Given the description of an element on the screen output the (x, y) to click on. 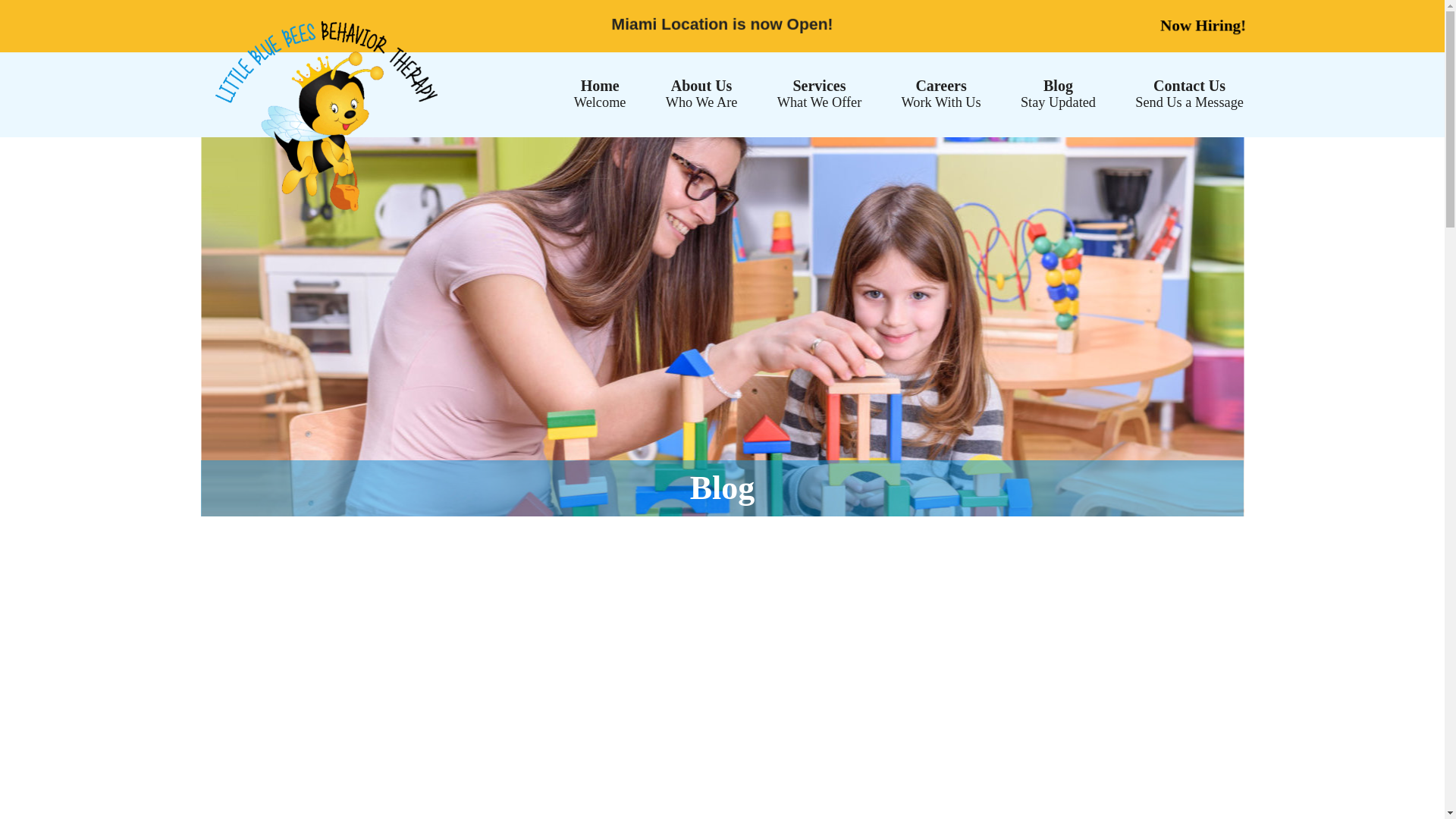
Now Hiring! (940, 93)
